Given the description of an element on the screen output the (x, y) to click on. 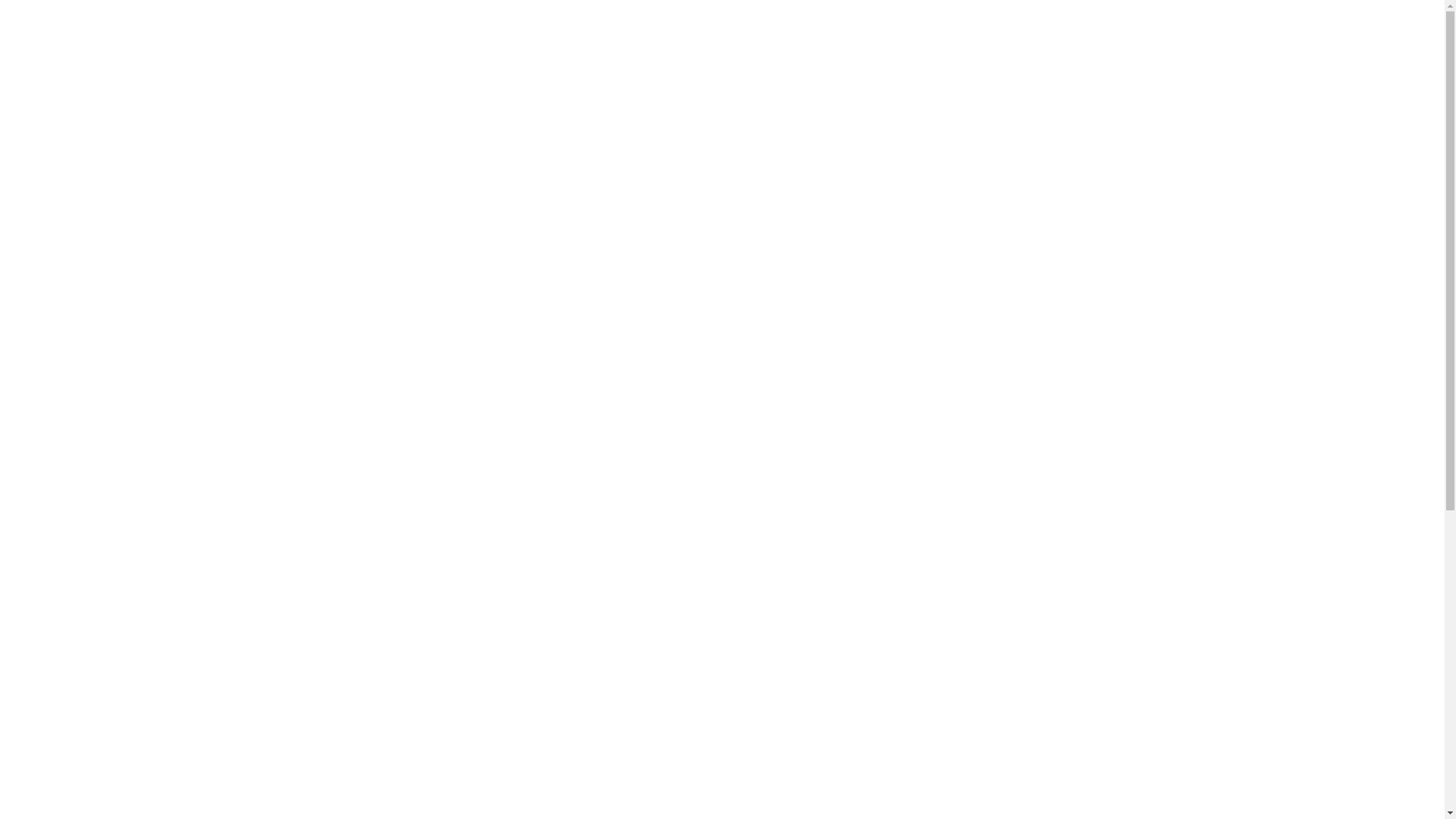
Skip to content Element type: text (5, 5)
